Given the description of an element on the screen output the (x, y) to click on. 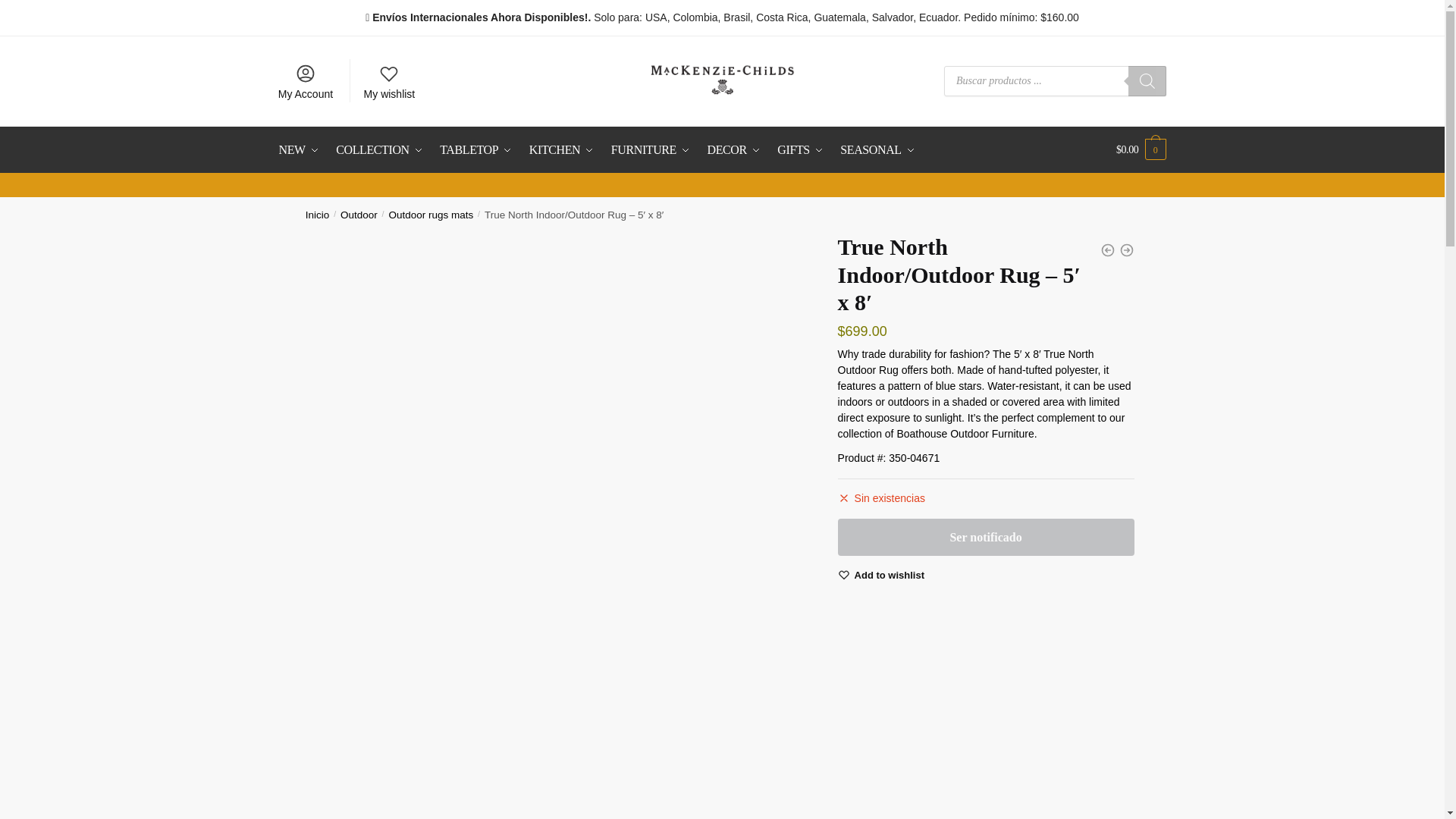
My wishlist (388, 80)
Ser notificado (986, 537)
My Account (304, 80)
COLLECTION (379, 149)
NEW (302, 149)
